Given the description of an element on the screen output the (x, y) to click on. 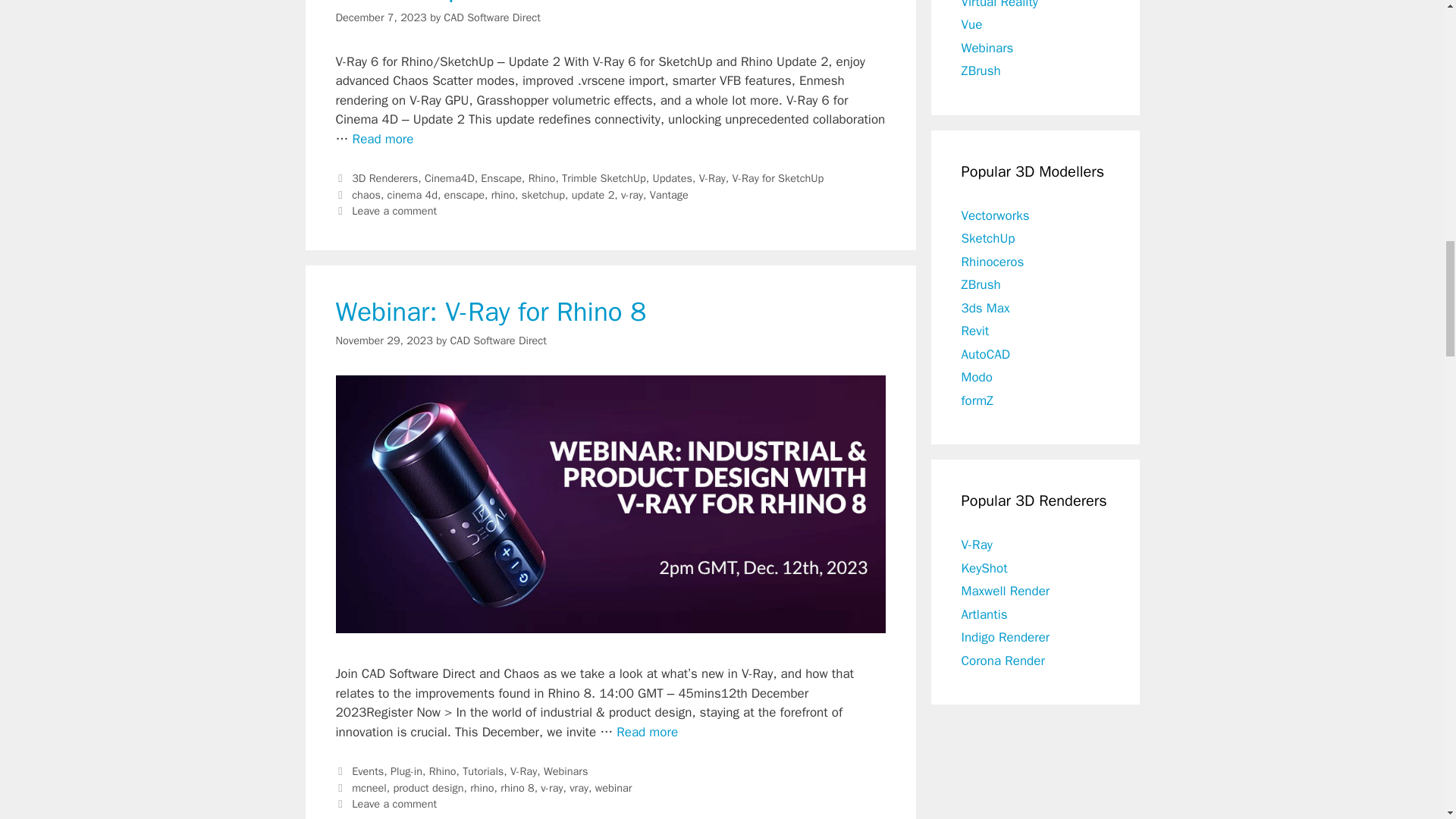
View all posts by CAD Software Direct (497, 340)
Webinar: V-Ray for Rhino 8 (646, 731)
View all posts by CAD Software Direct (492, 17)
